Given the description of an element on the screen output the (x, y) to click on. 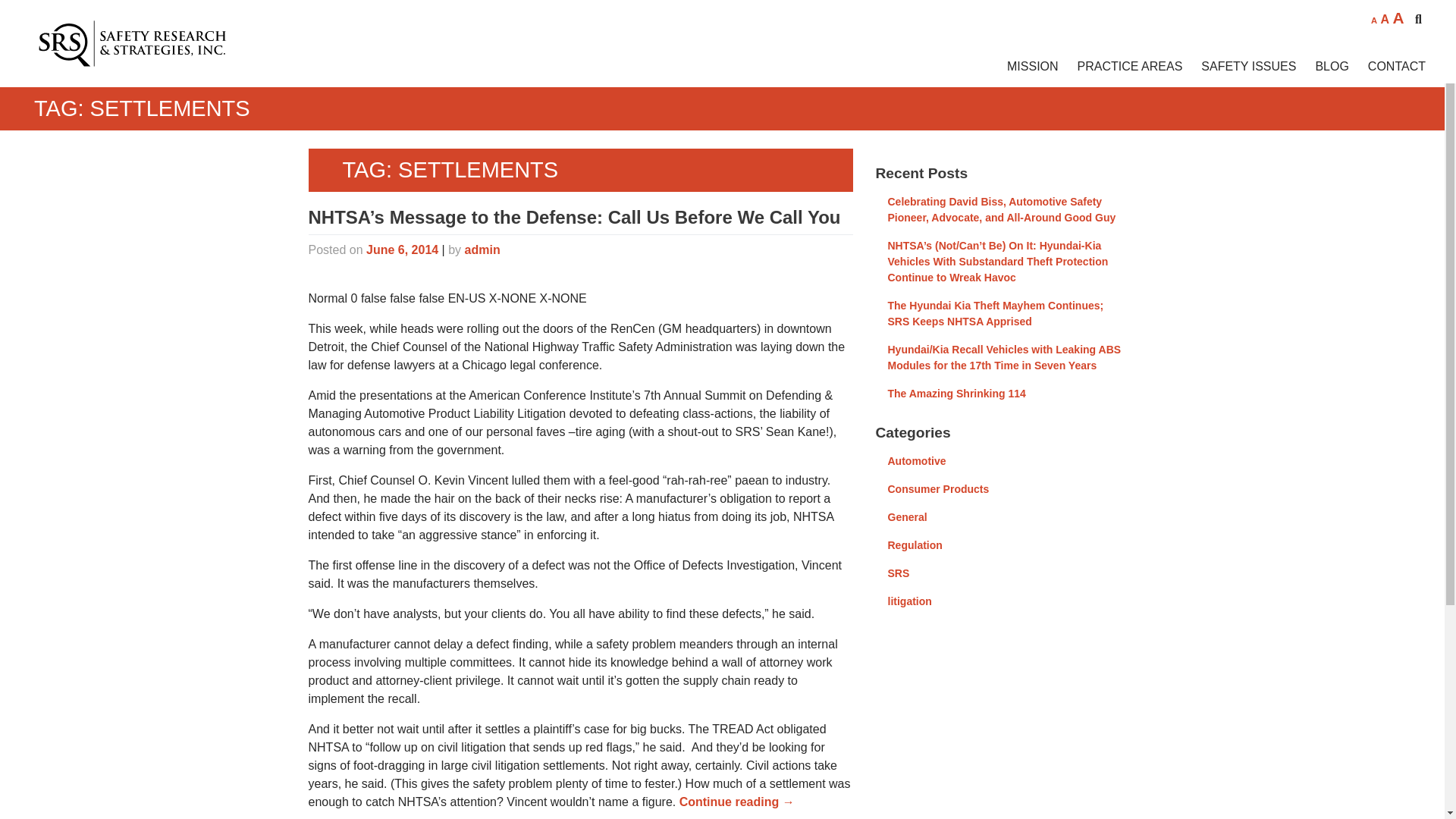
CONTACT (1387, 66)
MISSION (1023, 66)
admin (482, 249)
June 6, 2014 (402, 249)
PRACTICE AREAS (1120, 66)
BLOG (1321, 66)
SAFETY ISSUES (1238, 66)
